Given the description of an element on the screen output the (x, y) to click on. 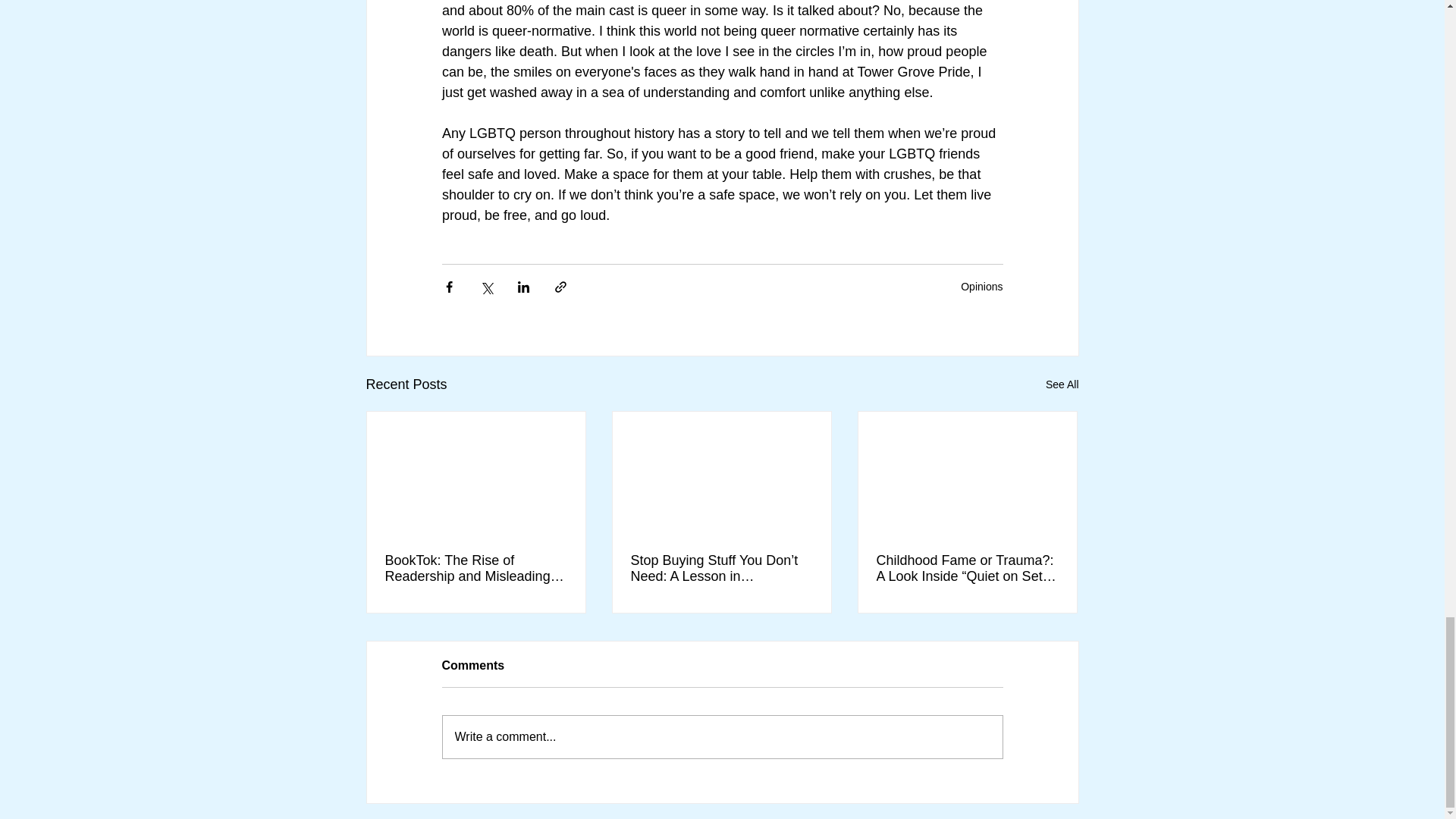
BookTok: The Rise of Readership and Misleading Marketing (476, 568)
Write a comment... (722, 736)
See All (1061, 384)
Opinions (981, 286)
